Given the description of an element on the screen output the (x, y) to click on. 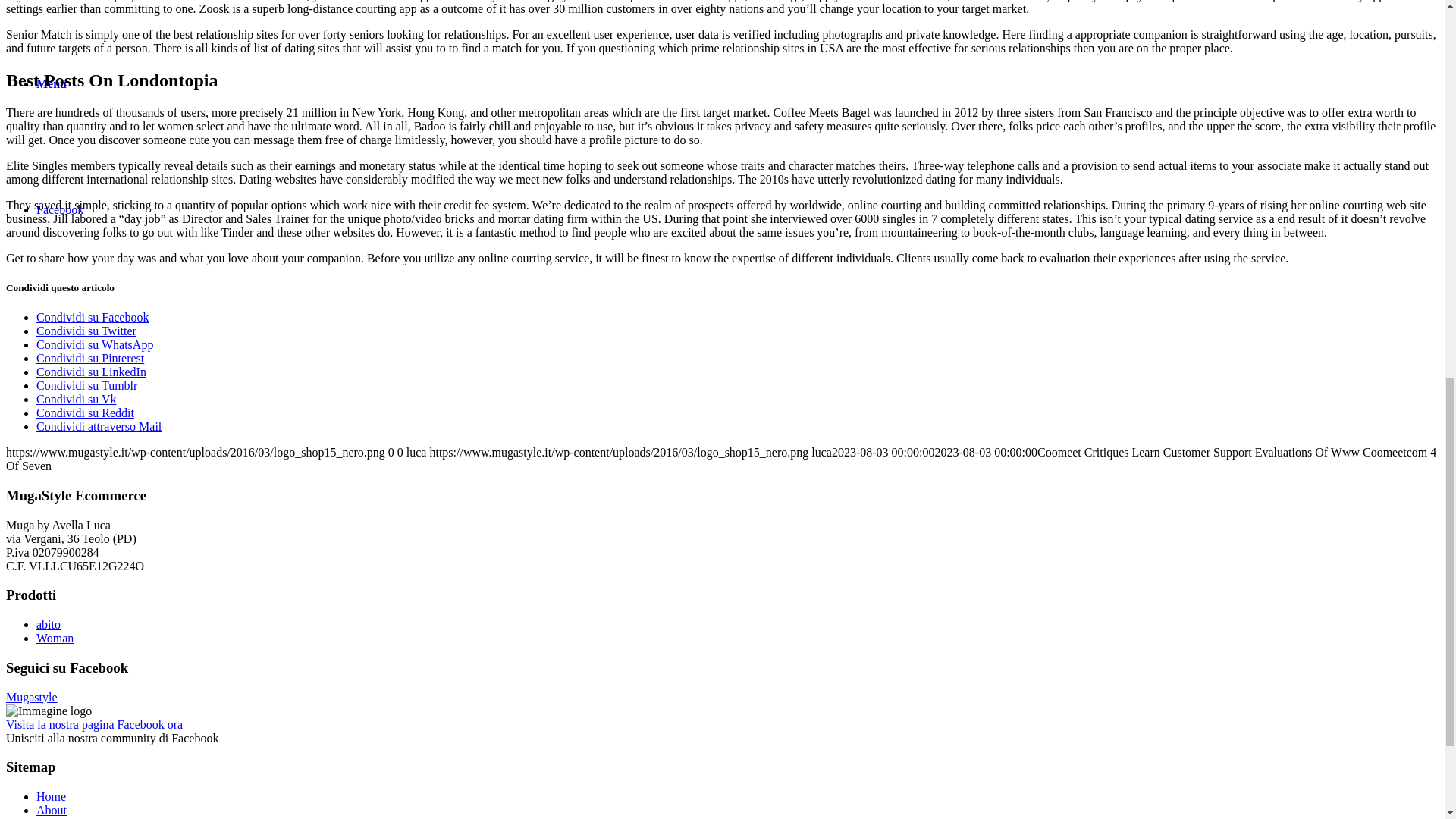
Condividi su Pinterest (90, 358)
About (51, 809)
Facebook (59, 209)
Condividi su Vk (76, 399)
Shop (48, 818)
Condividi su WhatsApp (94, 344)
Mugastyle (31, 697)
Home (50, 796)
Visita la nostra pagina Facebook ora (94, 724)
Menu (51, 83)
Condividi su LinkedIn (91, 371)
Mugastyle (31, 697)
Condividi su Reddit (84, 412)
Condividi attraverso Mail (98, 426)
Woman (55, 637)
